Given the description of an element on the screen output the (x, y) to click on. 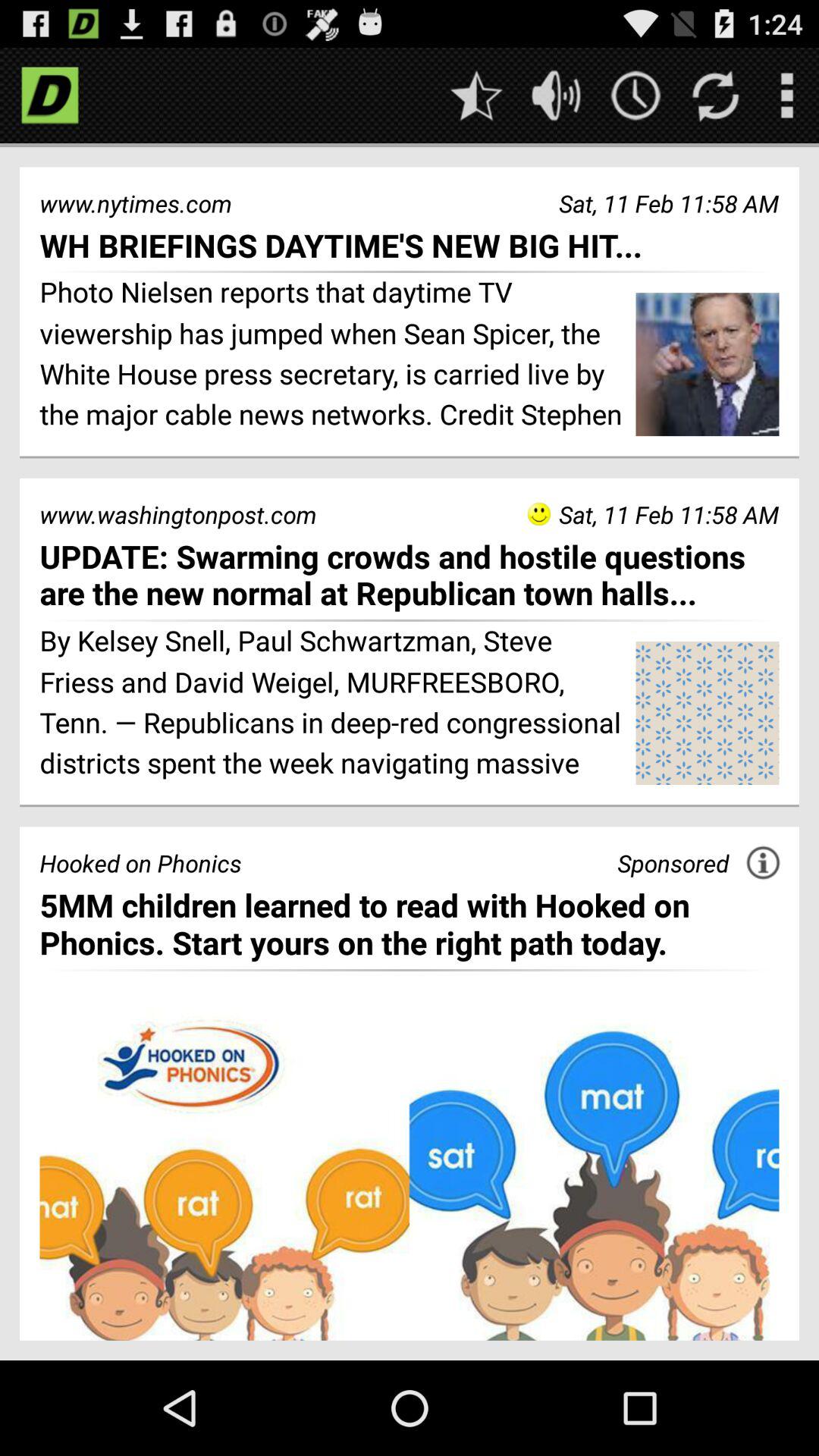
control volume (556, 95)
